Given the description of an element on the screen output the (x, y) to click on. 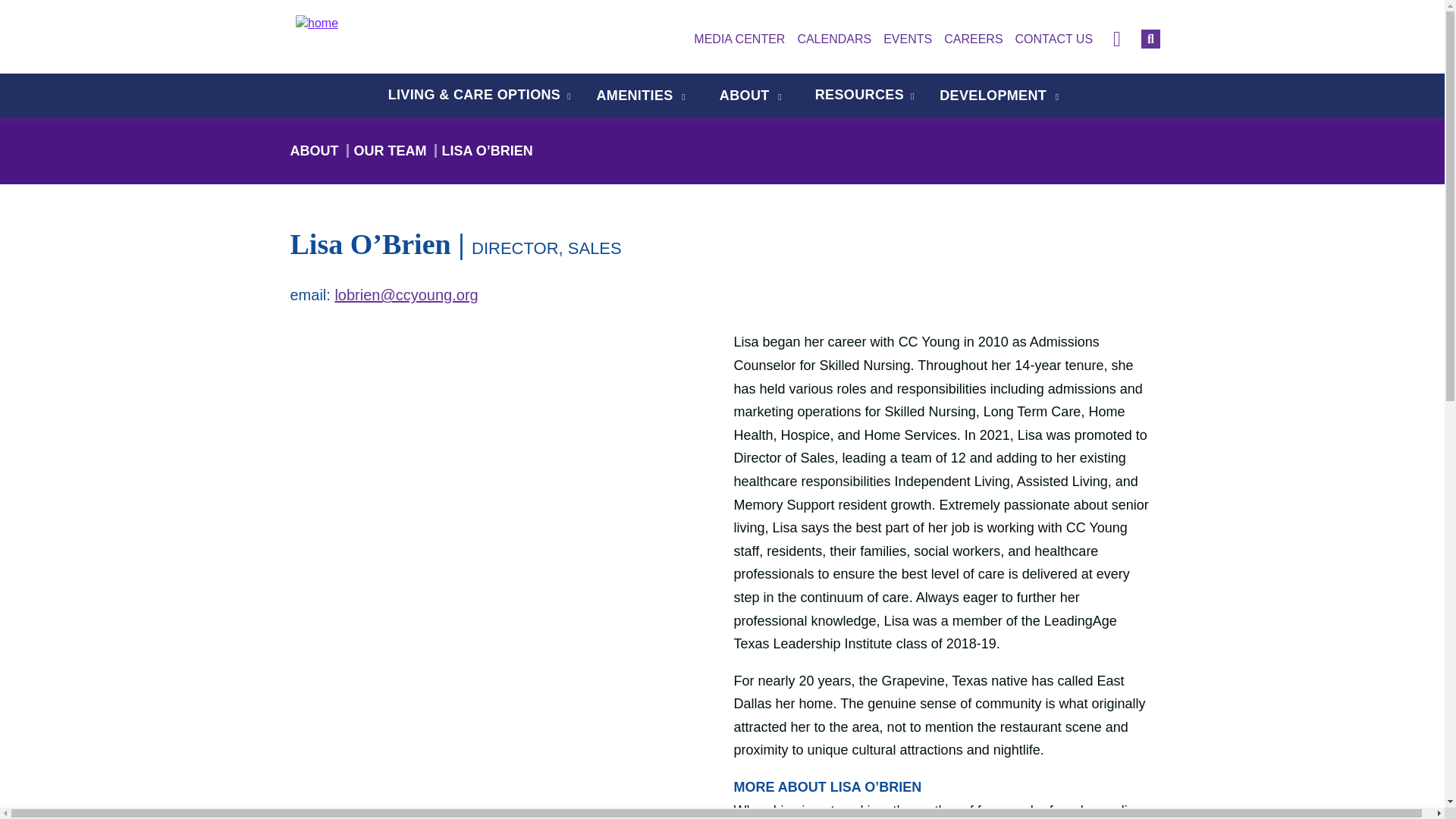
CC Young Senior Living home page (380, 23)
Call CC Young Senior Living (1117, 39)
AMENITIES (635, 95)
